Given the description of an element on the screen output the (x, y) to click on. 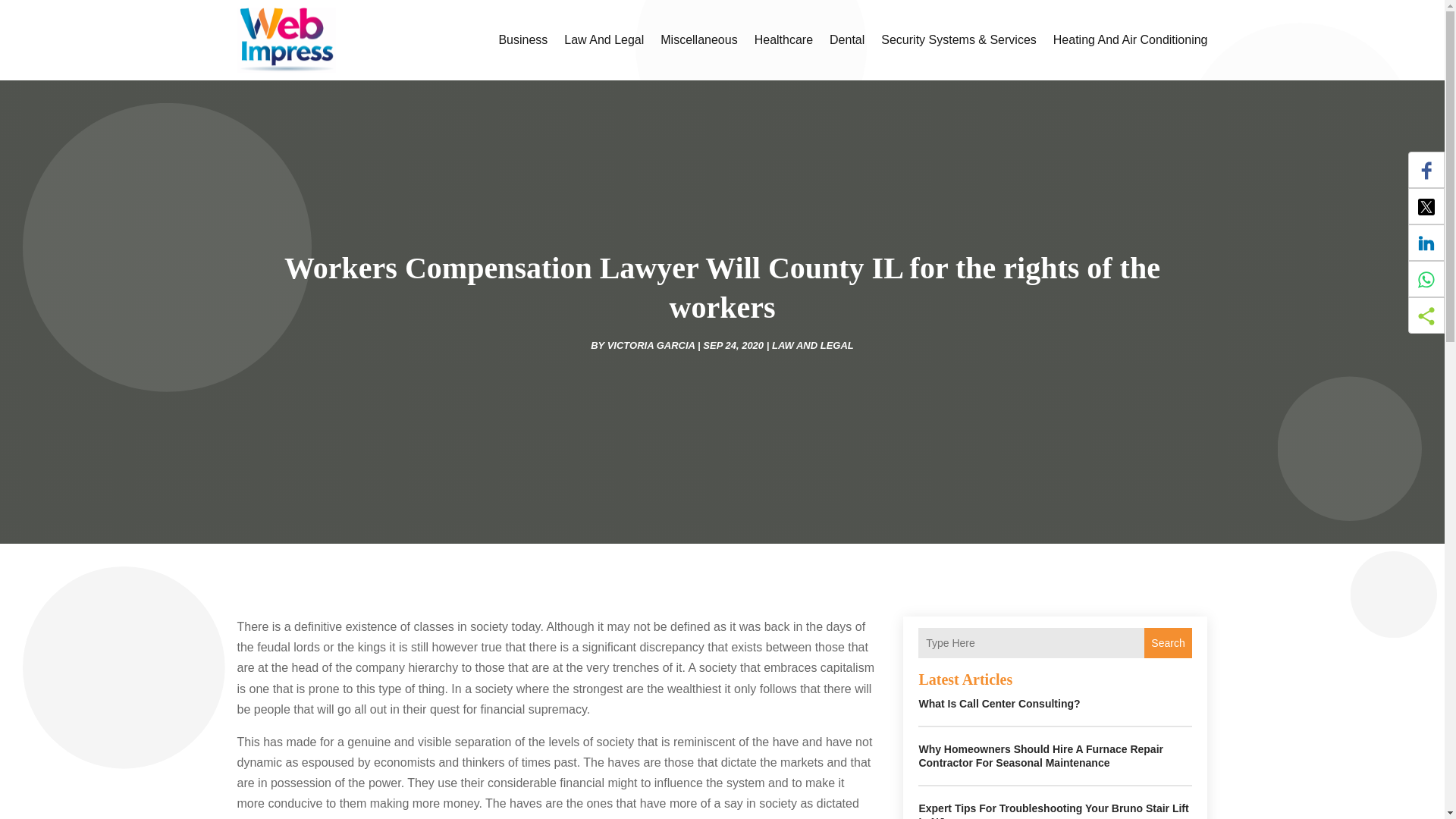
Law And Legal (603, 39)
Expert Tips For Troubleshooting Your Bruno Stair Lift In NJ (1053, 810)
Miscellaneous (698, 39)
What Is Call Center Consulting? (999, 703)
VICTORIA GARCIA (651, 345)
Healthcare (783, 39)
Heating And Air Conditioning (1130, 39)
Posts by Victoria Garcia (651, 345)
LAW AND LEGAL (812, 345)
Search (1168, 643)
